Given the description of an element on the screen output the (x, y) to click on. 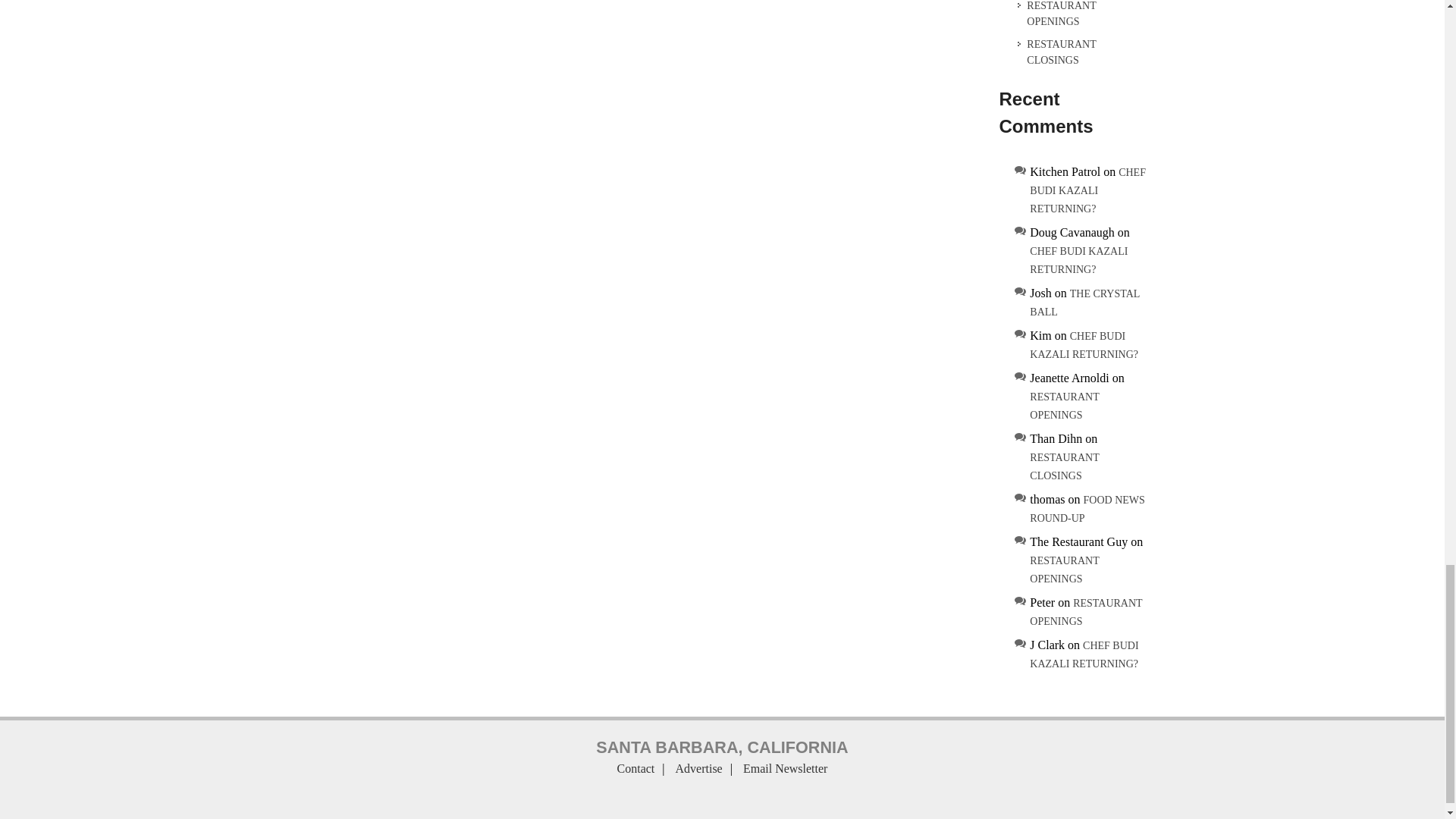
RESTAURANT CLOSINGS (1082, 51)
RESTAURANT OPENINGS (1082, 14)
CHEF BUDI KAZALI RETURNING? (1077, 260)
THE CRYSTAL BALL (1084, 302)
CHEF BUDI KAZALI RETURNING? (1087, 190)
